Given the description of an element on the screen output the (x, y) to click on. 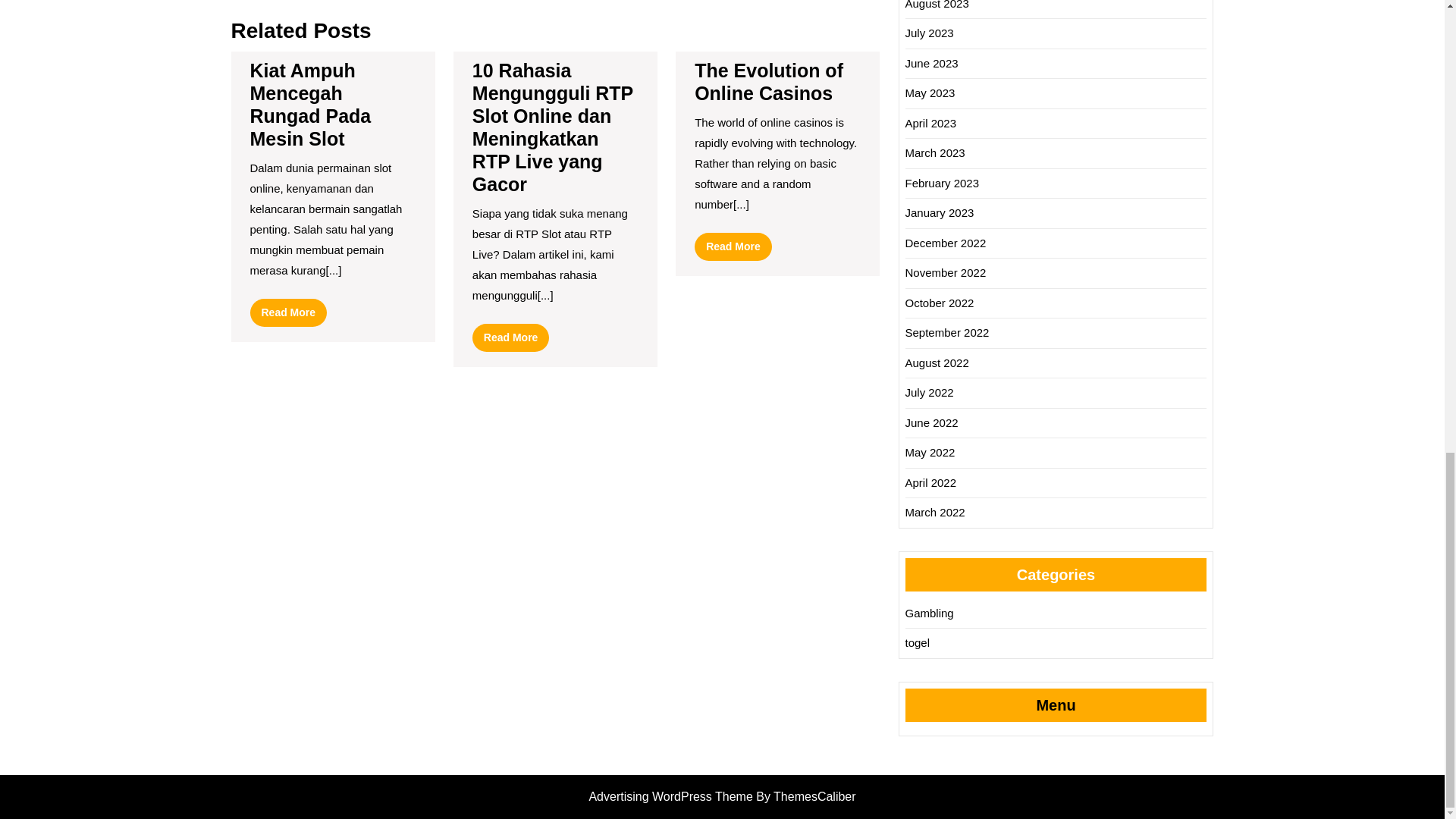
July 2023 (929, 32)
The Evolution of Online Casinos (732, 246)
Kiat Ampuh Mencegah Rungad Pada Mesin Slot (768, 81)
August 2023 (310, 104)
June 2023 (937, 4)
